Given the description of an element on the screen output the (x, y) to click on. 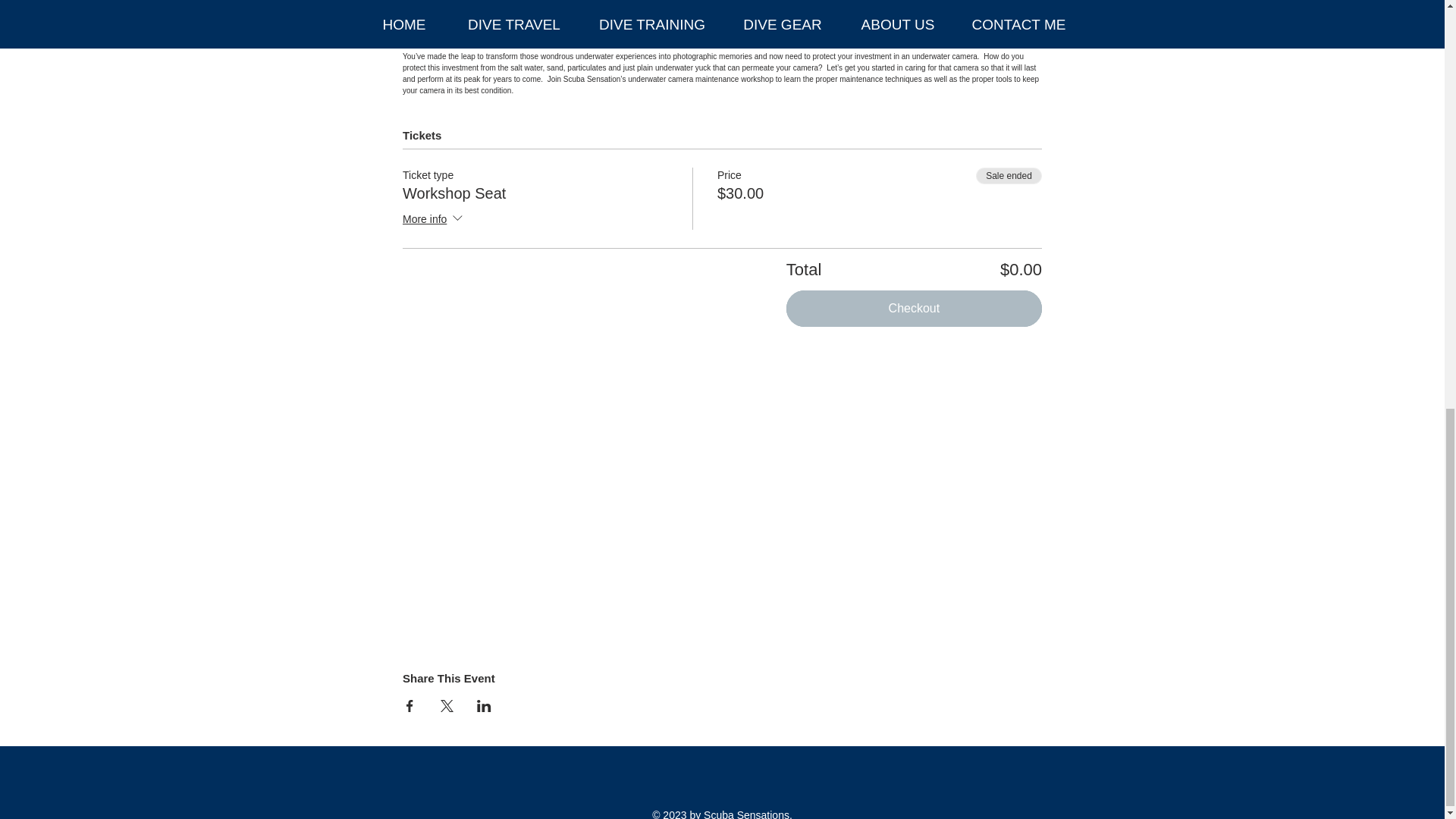
Checkout (914, 308)
More info (434, 219)
